Given the description of an element on the screen output the (x, y) to click on. 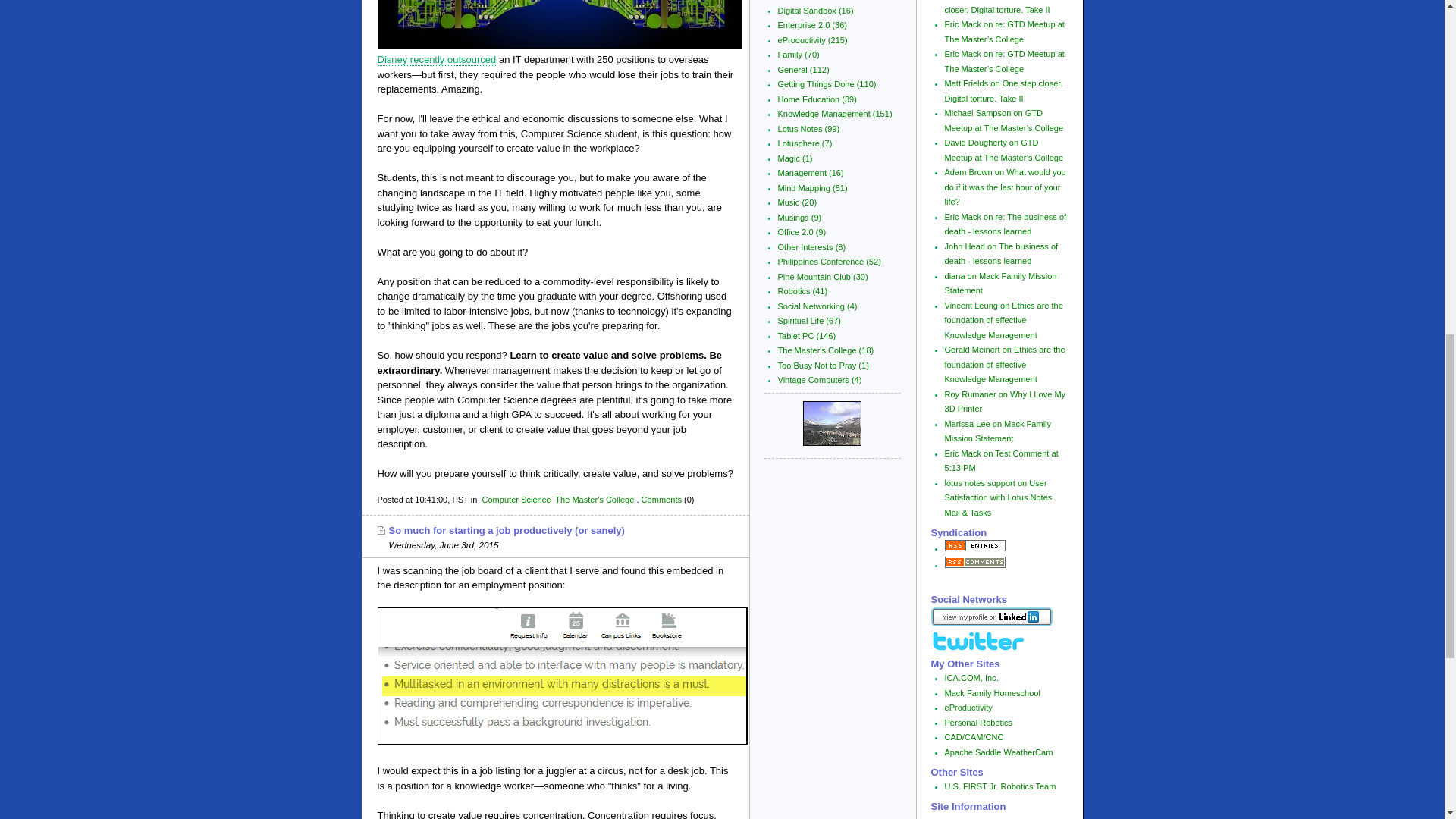
Category: Computer Science (515, 499)
Disney recently outsourced (436, 60)
Computer Science (515, 499)
Category: The Master's College (593, 499)
Comments (661, 499)
The Master's College (593, 499)
